Given the description of an element on the screen output the (x, y) to click on. 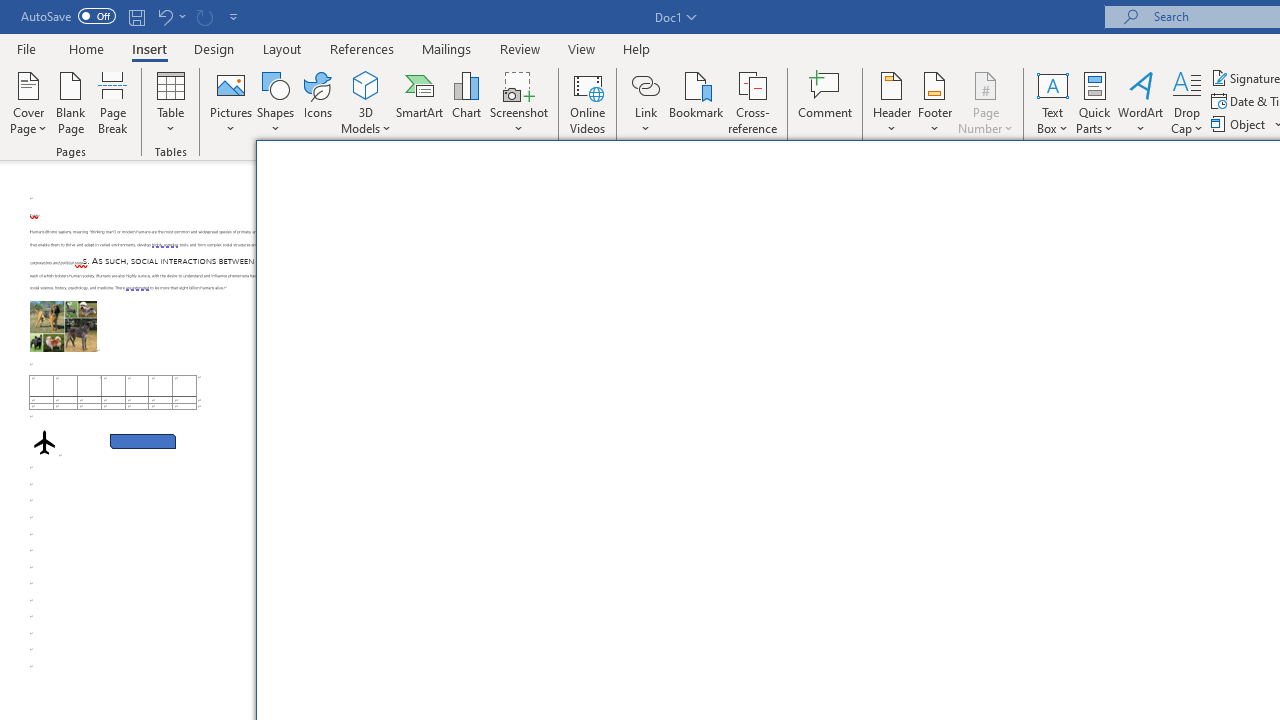
SmartArt... (419, 102)
Chart... (466, 102)
3D Models (366, 102)
Quick Parts (1094, 102)
Link (645, 102)
Cutout People (477, 258)
Undo Apply Quick Style Set (164, 15)
Rectangle: Diagonal Corners Snipped 2 (143, 441)
3D Models (366, 84)
Pictures (230, 102)
Shapes (275, 102)
Illustrations (661, 258)
